Given the description of an element on the screen output the (x, y) to click on. 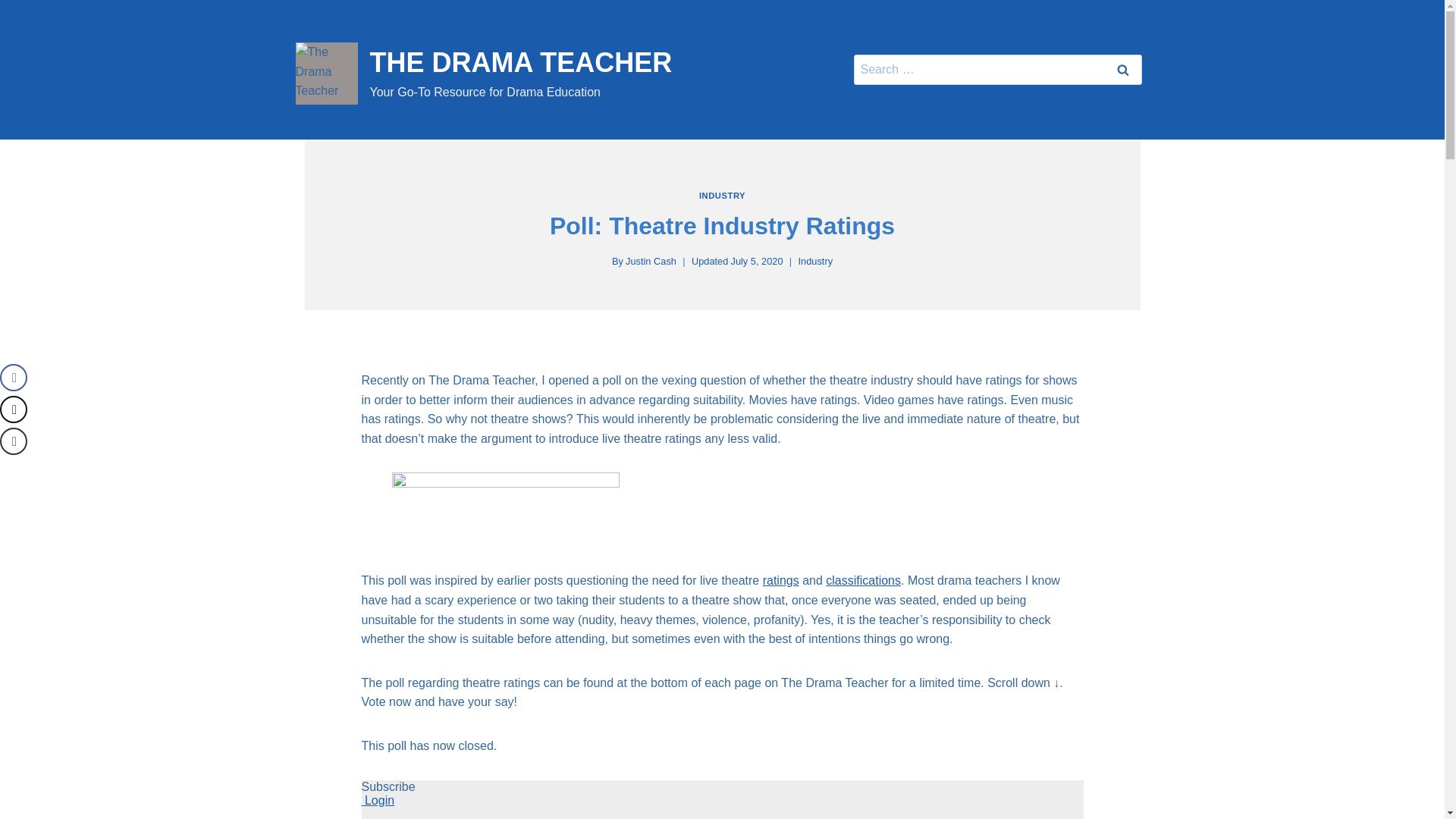
Search (1122, 69)
INDUSTRY (721, 194)
classifications (863, 580)
ratings (780, 580)
Login (377, 799)
Search (483, 73)
Search (1122, 69)
Industry (1122, 69)
